Given the description of an element on the screen output the (x, y) to click on. 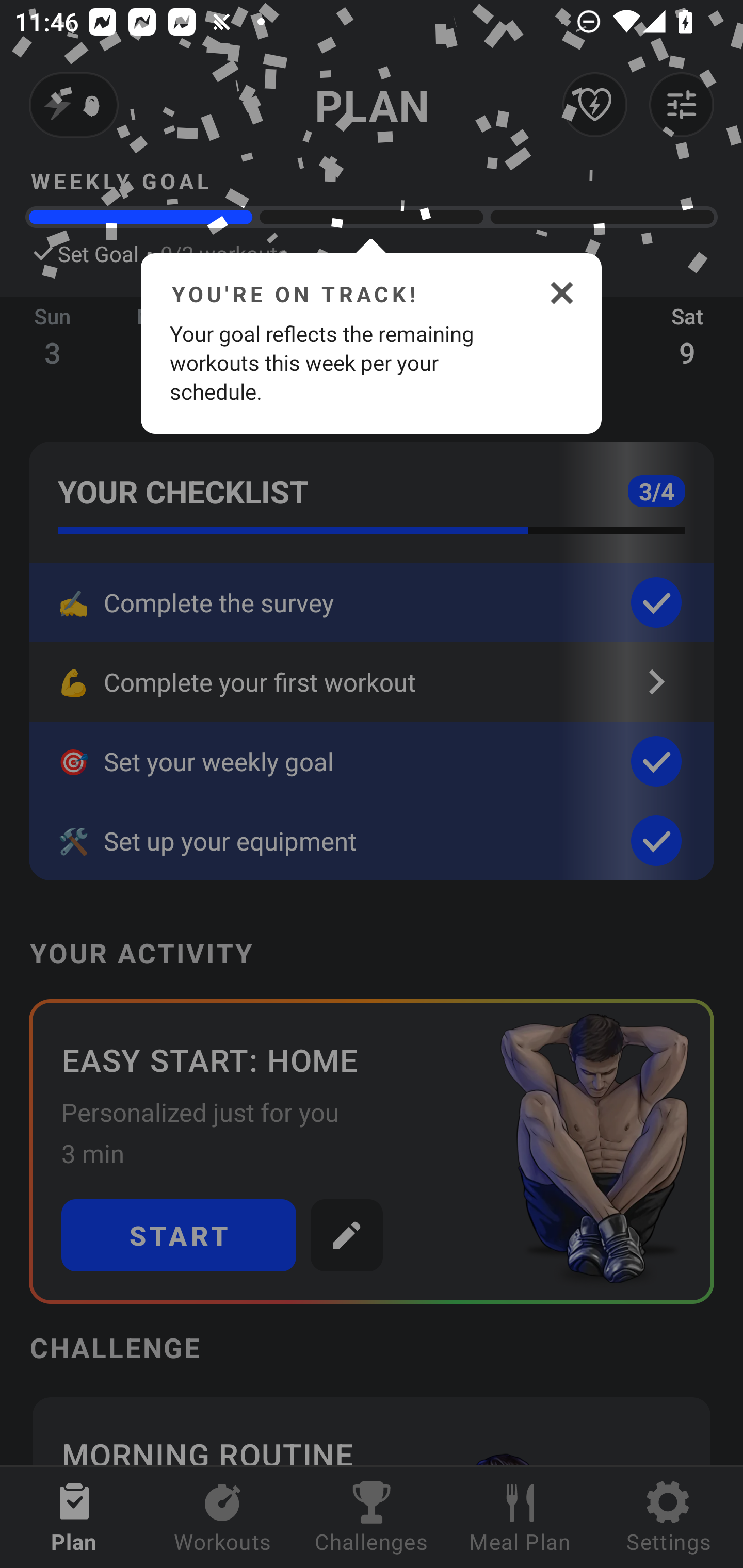
0 (73, 104)
💪 Complete your first workout (371, 681)
START (178, 1235)
 Workouts  (222, 1517)
 Challenges  (371, 1517)
 Meal Plan  (519, 1517)
 Settings  (668, 1517)
